Given the description of an element on the screen output the (x, y) to click on. 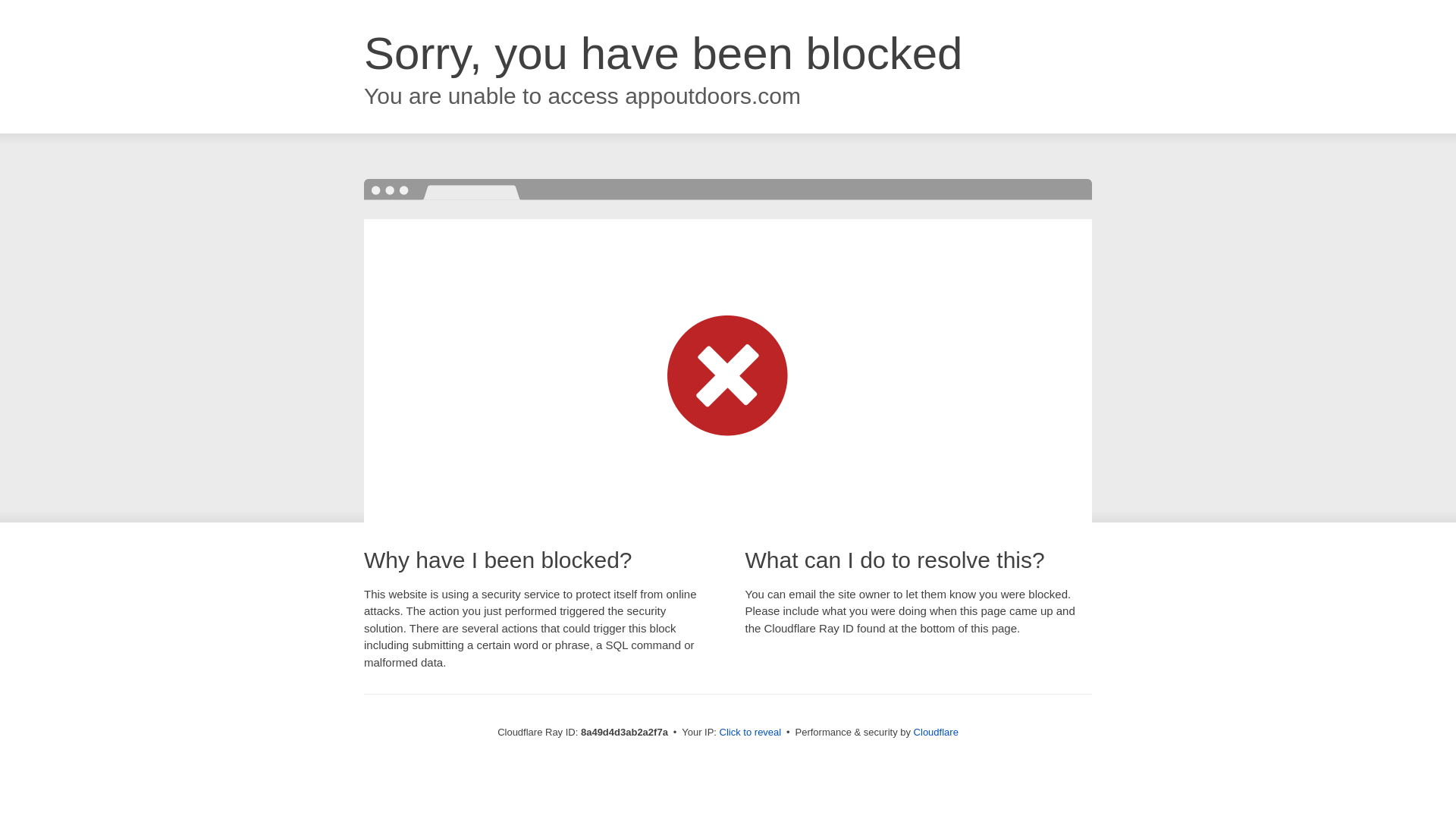
Cloudflare (936, 731)
Click to reveal (750, 732)
